Given the description of an element on the screen output the (x, y) to click on. 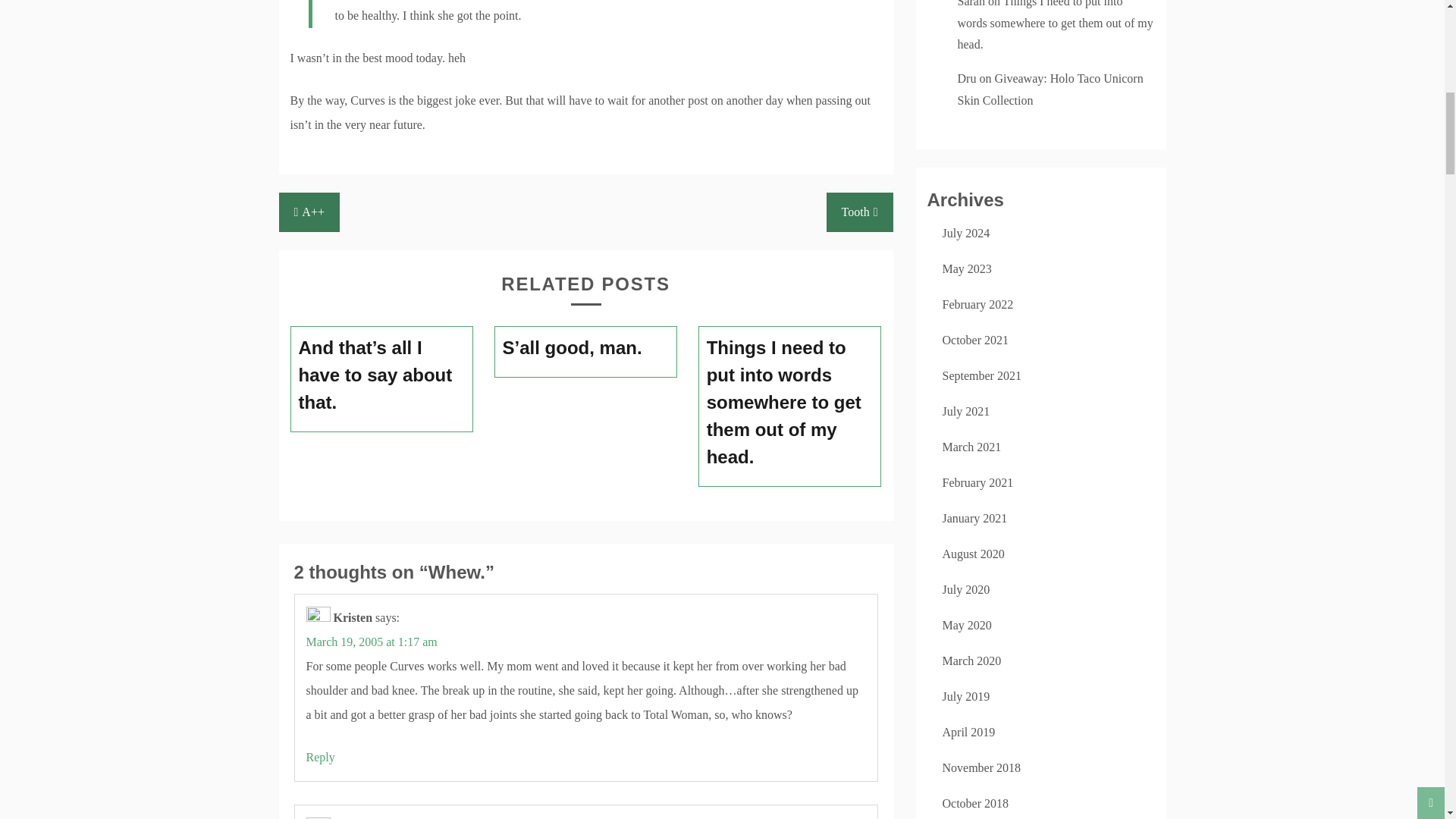
February 2021 (977, 481)
February 2022 (977, 304)
September 2021 (981, 375)
Reply (319, 757)
July 2021 (966, 410)
March 2021 (971, 446)
Tooth (860, 211)
Giveaway: Holo Taco Unicorn Skin Collection (1049, 89)
July 2024 (966, 232)
March 19, 2005 at 1:17 am (371, 641)
May 2023 (966, 268)
October 2021 (975, 339)
